Given the description of an element on the screen output the (x, y) to click on. 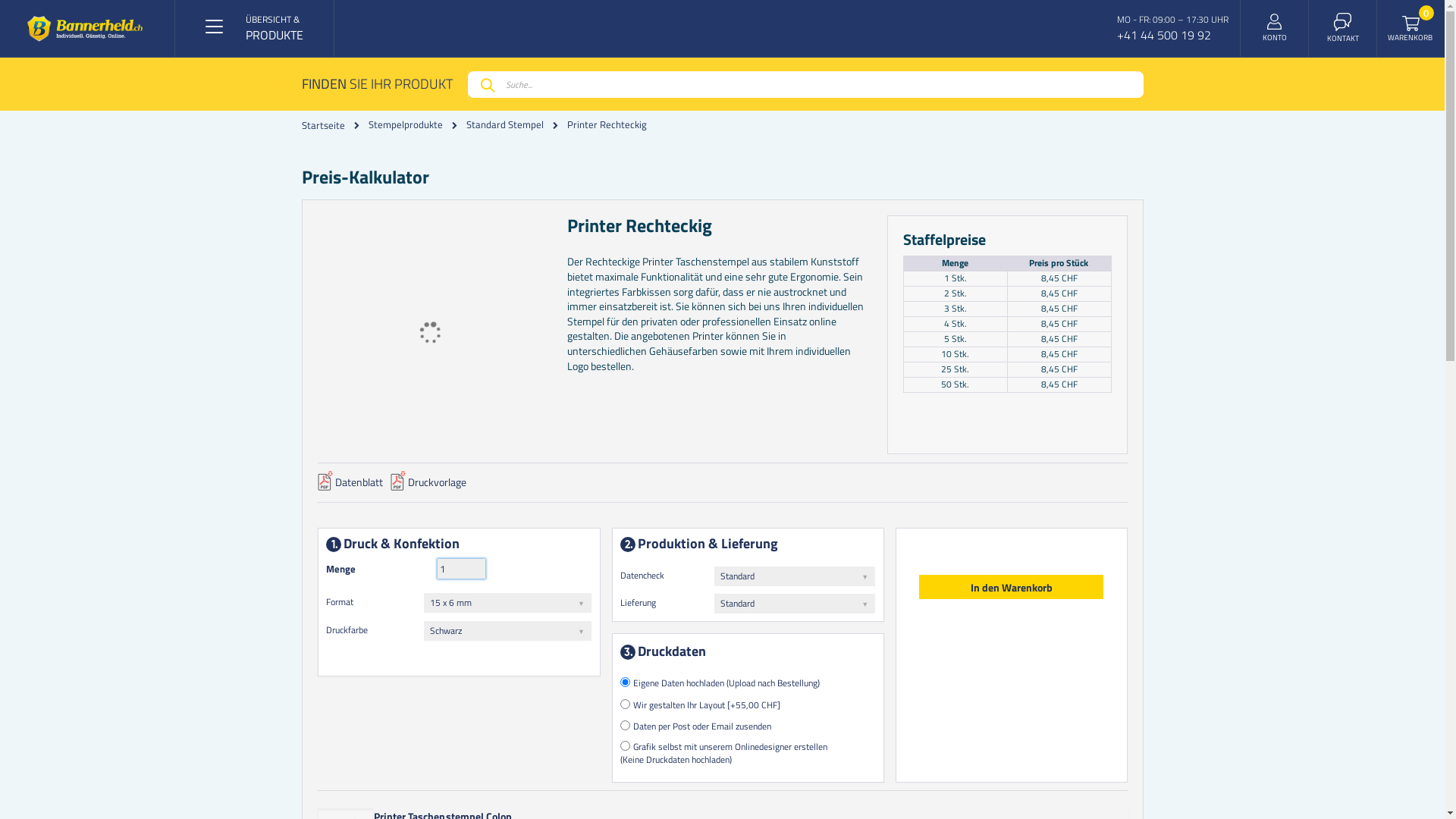
Datenblatt Element type: text (349, 486)
In den Warenkorb Element type: text (1011, 586)
Standard Element type: text (794, 576)
Druckvorlage Element type: text (427, 486)
KONTO Element type: text (1273, 28)
Startseite Element type: text (323, 124)
KONTAKT Element type: text (1342, 27)
WARENKORB
0 Element type: text (1411, 27)
Standard Element type: text (794, 603)
Schwarz Element type: text (507, 630)
bannerheld.ch Element type: hover (85, 28)
Zum Ende der Bildgalerie springen Element type: text (316, 214)
Stempelprodukte Element type: text (405, 124)
15 x 6 mm Element type: text (507, 602)
Standard Stempel Element type: text (503, 124)
Suche Element type: text (486, 84)
Zum Anfang der Bildgalerie springen Element type: text (566, 214)
